Given the description of an element on the screen output the (x, y) to click on. 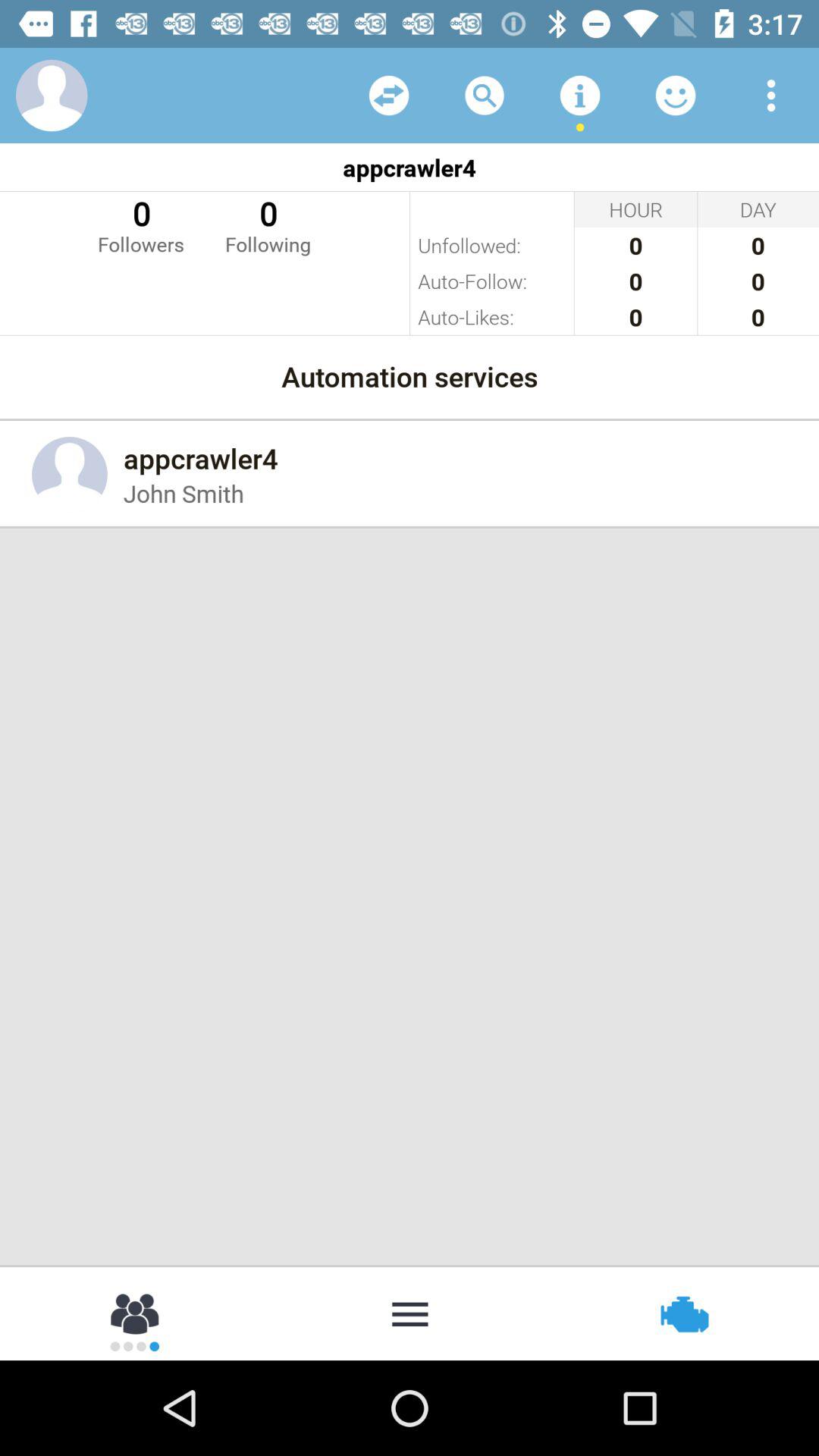
turn off the icon next to 0
followers icon (268, 224)
